Given the description of an element on the screen output the (x, y) to click on. 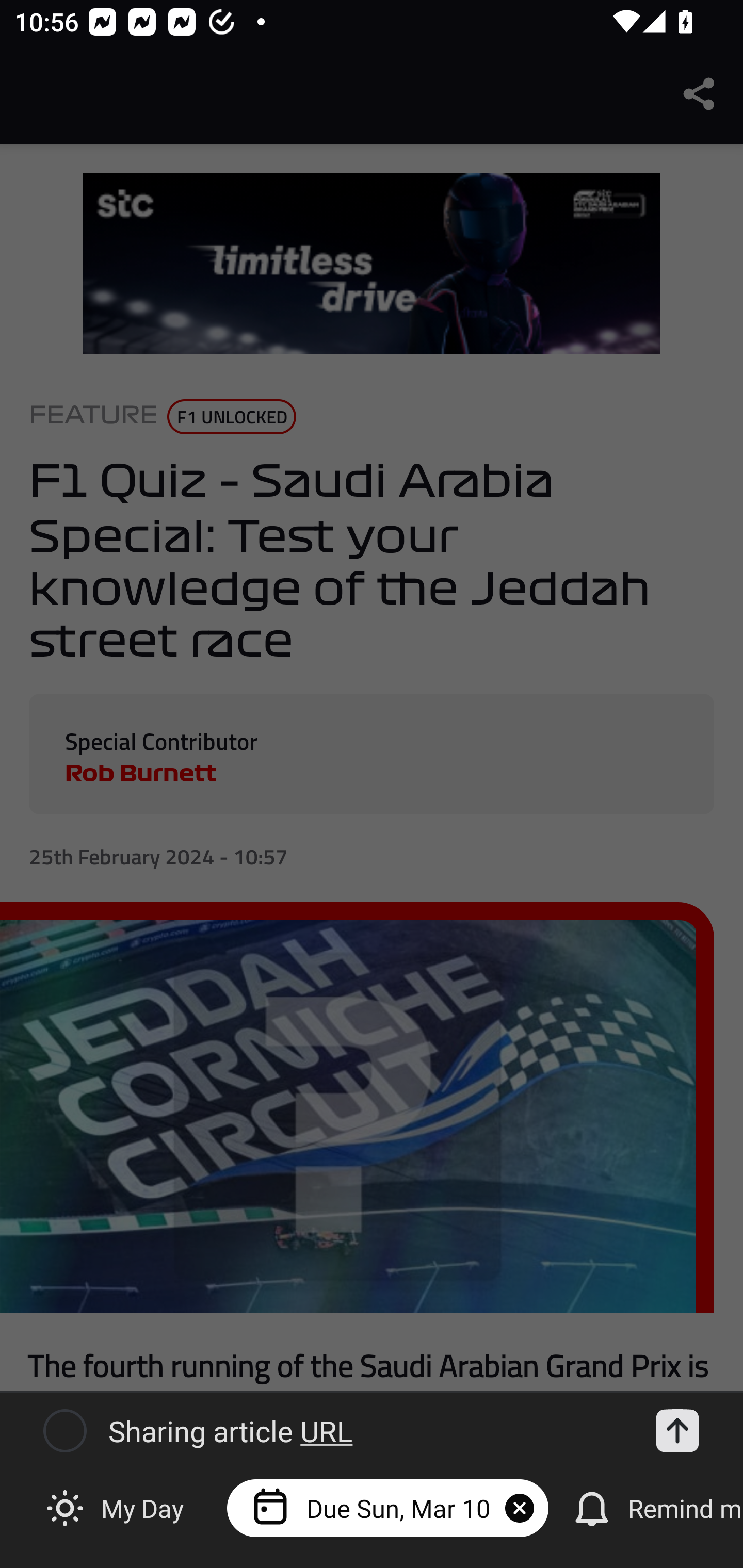
Add a task (676, 1430)
Sharing article URL (366, 1430)
My Day (116, 1507)
Due Sun, Mar 10 Remove due date (387, 1507)
Remind me (653, 1507)
Remove due date (518, 1508)
